Given the description of an element on the screen output the (x, y) to click on. 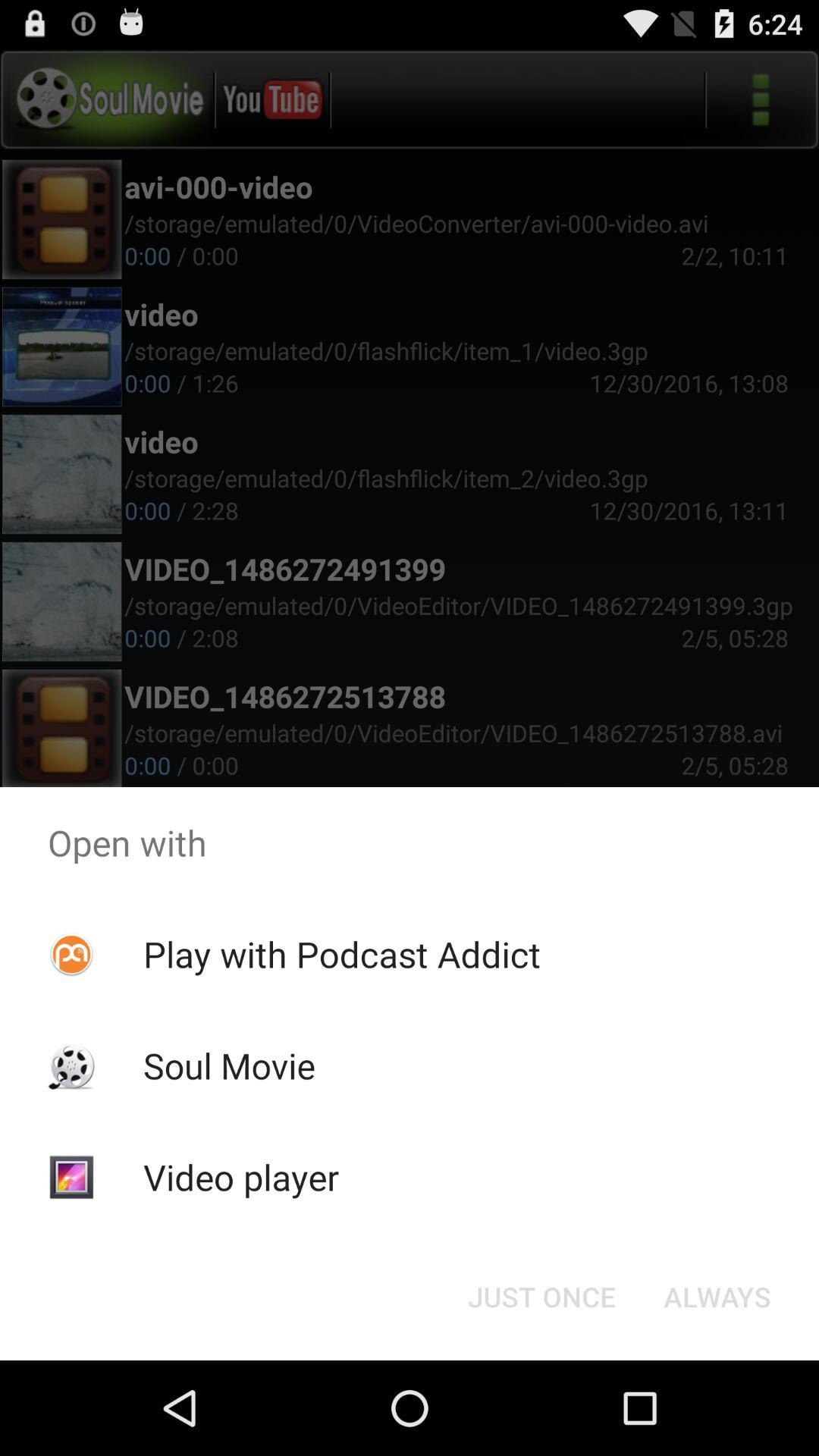
scroll to always button (717, 1296)
